Given the description of an element on the screen output the (x, y) to click on. 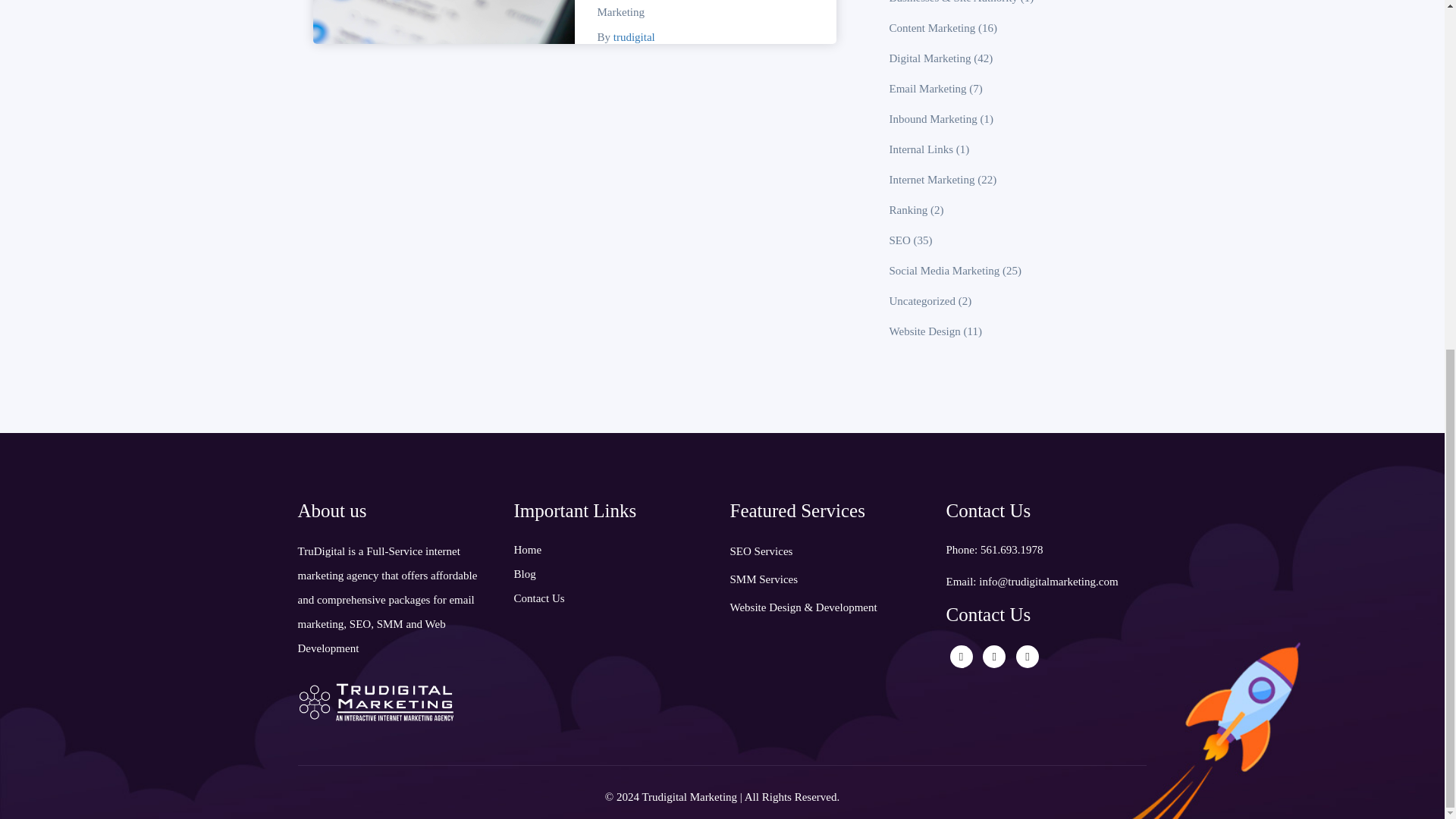
Ranking (908, 209)
Website Design (924, 331)
SEO (900, 240)
Content Marketing (932, 28)
Internal Links (921, 149)
Digital Marketing (930, 58)
Uncategorized (922, 300)
Internet Marketing (699, 9)
SEO Services (760, 551)
Social Media Marketing (944, 270)
Email Marketing (927, 88)
trudigital (633, 37)
Inbound Marketing (932, 119)
Internet Marketing (932, 179)
